Given the description of an element on the screen output the (x, y) to click on. 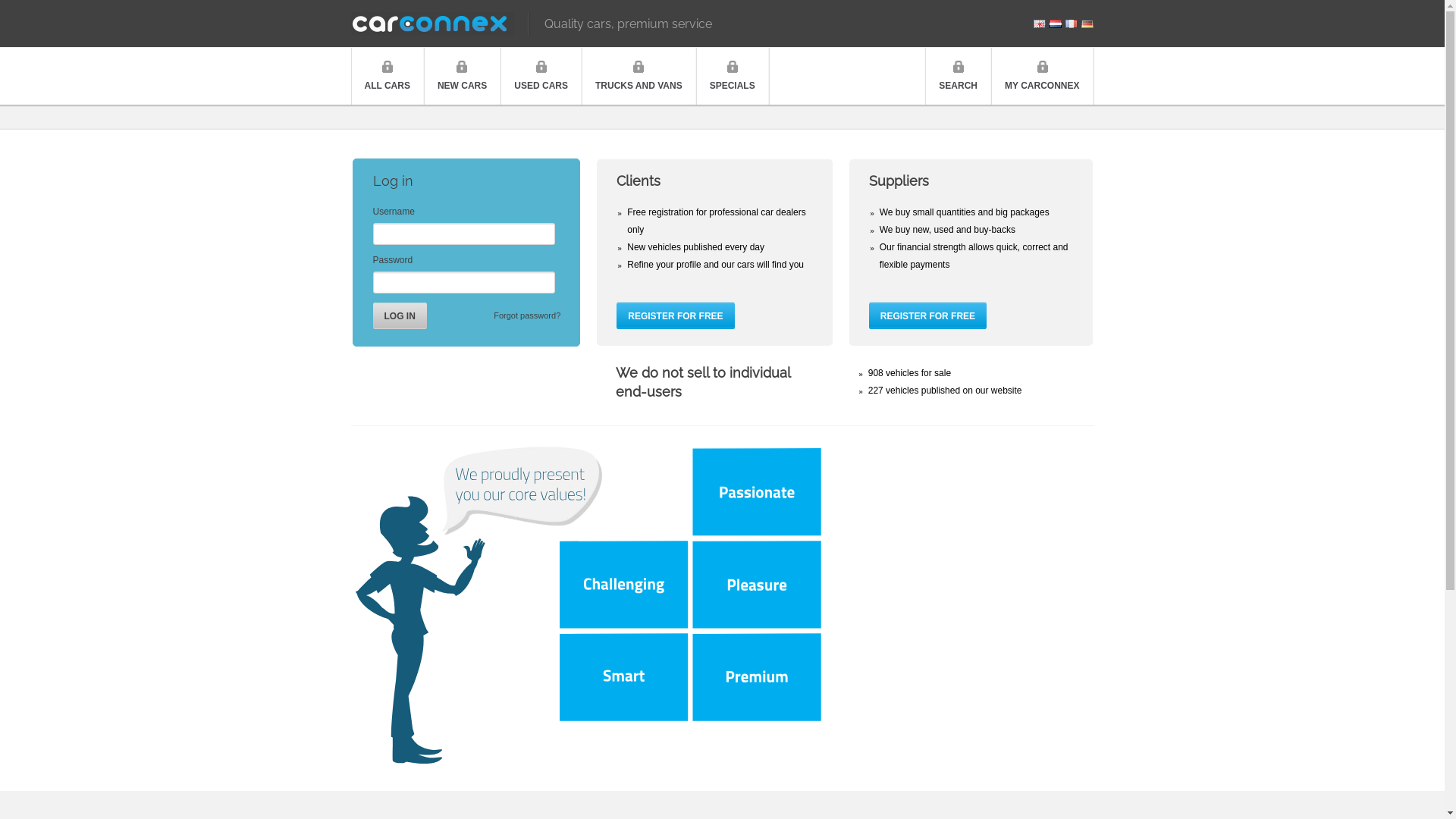
Forgot password? Element type: text (526, 315)
Log in Element type: text (399, 315)
Register for free Element type: text (675, 315)
carconnex Element type: text (438, 23)
TRUCKS AND VANS Element type: text (638, 75)
NEW CARS Element type: text (461, 75)
SPECIALS Element type: text (732, 75)
MY CARCONNEX Element type: text (1041, 75)
Register for free Element type: text (927, 315)
USED CARS Element type: text (540, 75)
SEARCH Element type: text (958, 75)
ALL CARS Element type: text (386, 75)
